Given the description of an element on the screen output the (x, y) to click on. 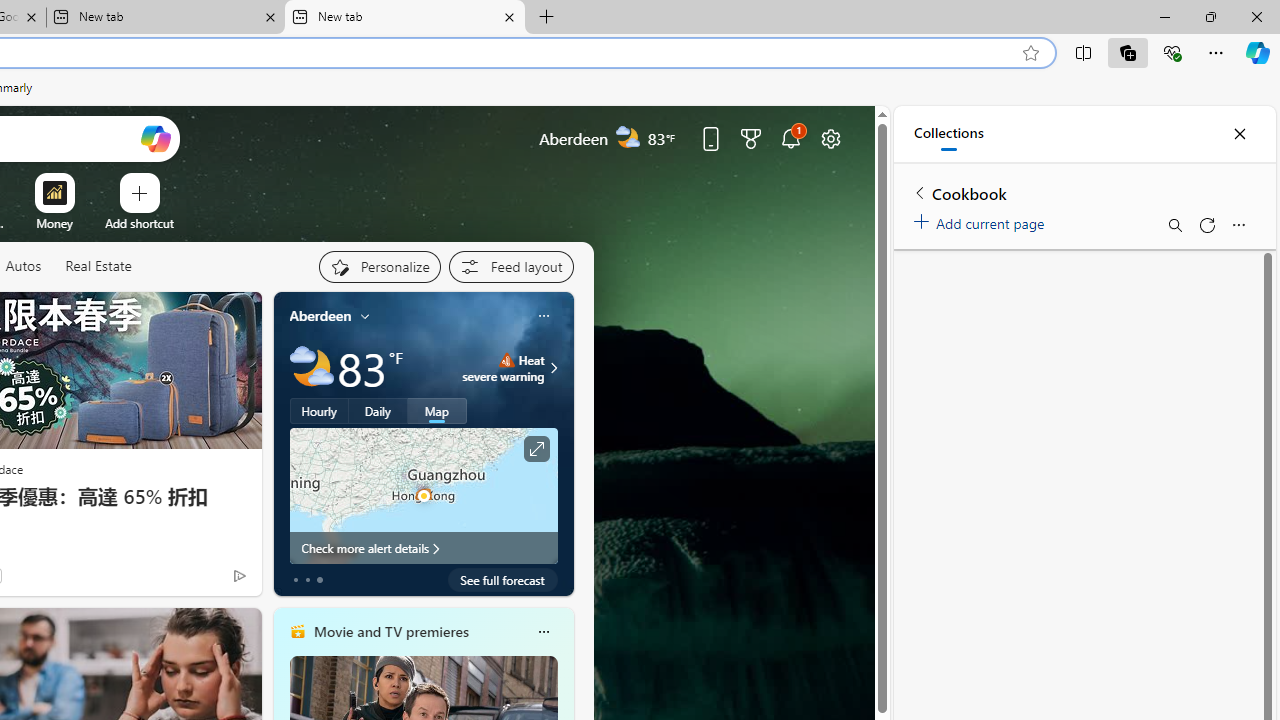
Add current page (982, 219)
Ad Choice (238, 575)
Heat - Severe Heat severe warning (503, 367)
Partly cloudy (311, 368)
Map (437, 411)
tab-0 (295, 579)
Autos (22, 265)
Daily (378, 411)
You're following The Weather Channel (197, 579)
More options menu (1238, 224)
